Given the description of an element on the screen output the (x, y) to click on. 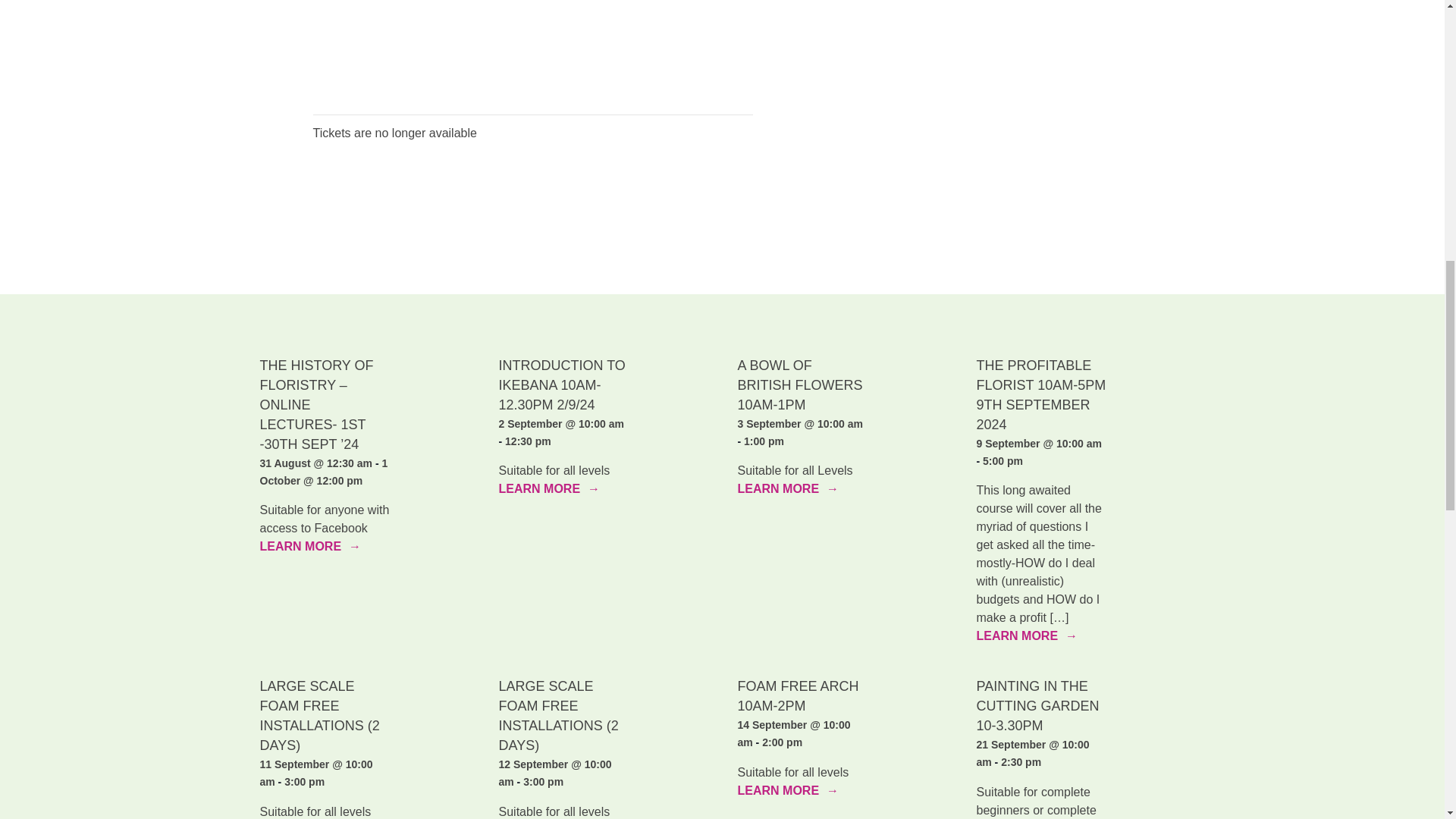
LEARN MORE (787, 488)
LEARN MORE (310, 546)
A Bowl of British Flowers 10am-1pm (787, 488)
A Bowl of British Flowers 10am-1pm (905, 393)
A BOWL OF BRITISH FLOWERS 10AM-1PM (798, 384)
LEARN MORE (549, 488)
The Profitable Florist 10am-5pm 9th September 2024 (1145, 393)
LEARN MORE (1027, 636)
A Bowl of British Flowers 10am-1pm (798, 384)
The Profitable Florist 10am-5pm 9th September 2024 (1041, 394)
